Given the description of an element on the screen output the (x, y) to click on. 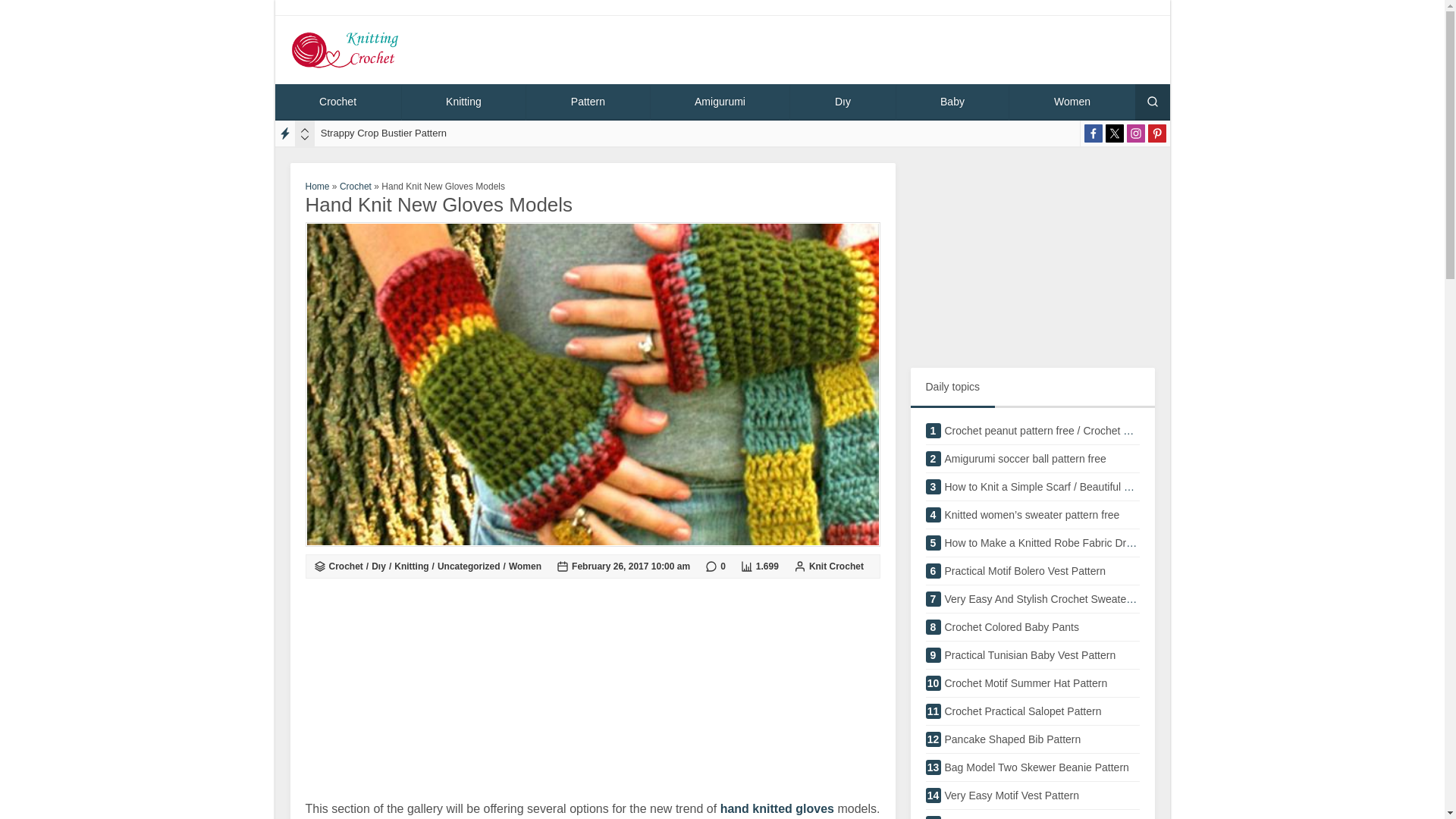
Strappy Crop Bustier Pattern (383, 132)
Follow us on Instagram (1031, 602)
Advertisement (1031, 630)
Knittting Crochet (1135, 133)
Baby (591, 692)
Follow us on Facebook (343, 49)
Amigurumi (952, 102)
Follow us on Twitter (1093, 133)
Advertisement (720, 102)
Pattern (1031, 462)
Posts by Knit Crochet (1114, 133)
